Given the description of an element on the screen output the (x, y) to click on. 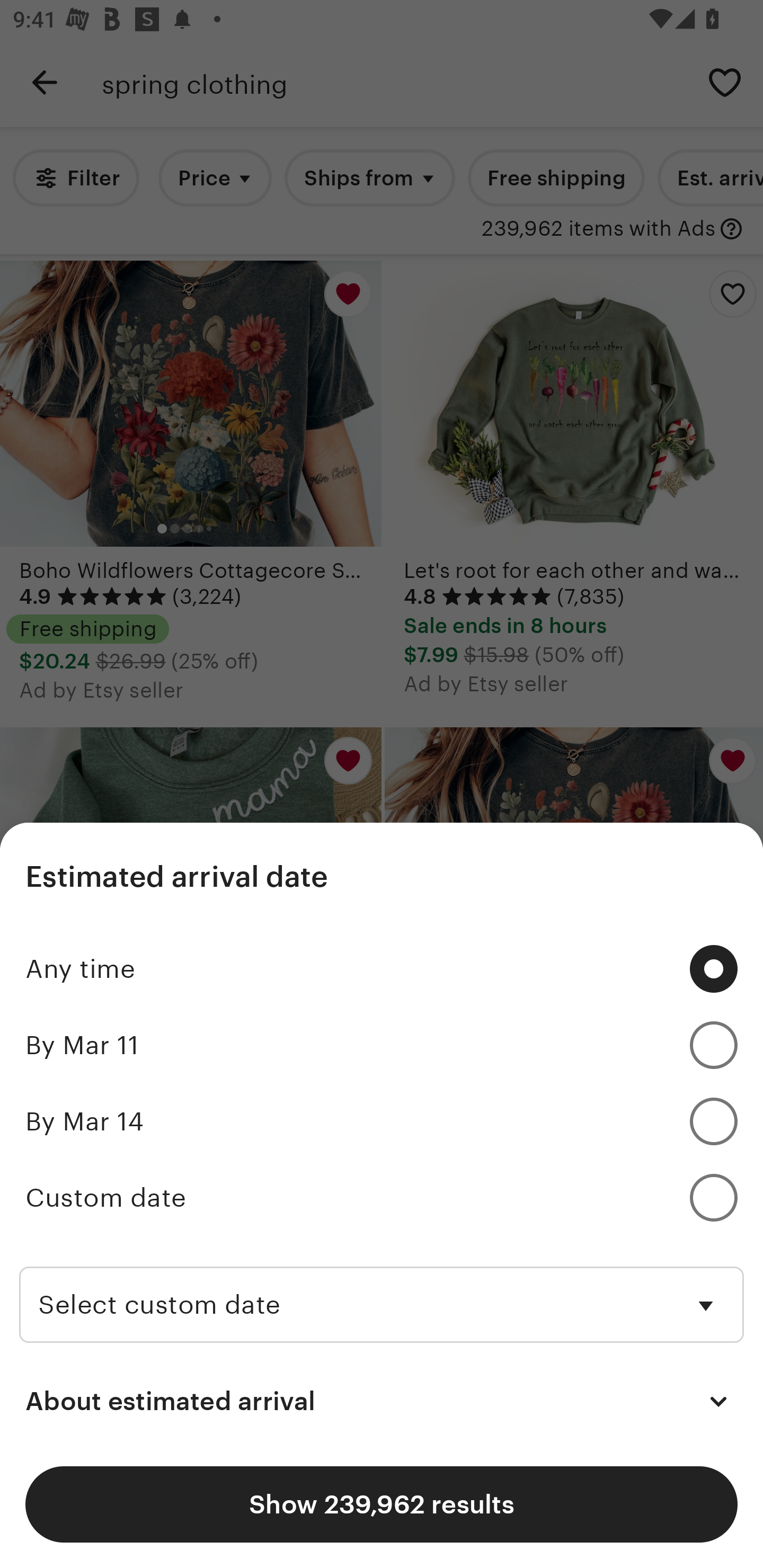
By Mar 11 (381, 1044)
By Mar 14 (381, 1121)
Custom date (381, 1197)
Select custom date (381, 1288)
About estimated arrival (381, 1401)
Show 239,962 results (381, 1504)
